Given the description of an element on the screen output the (x, y) to click on. 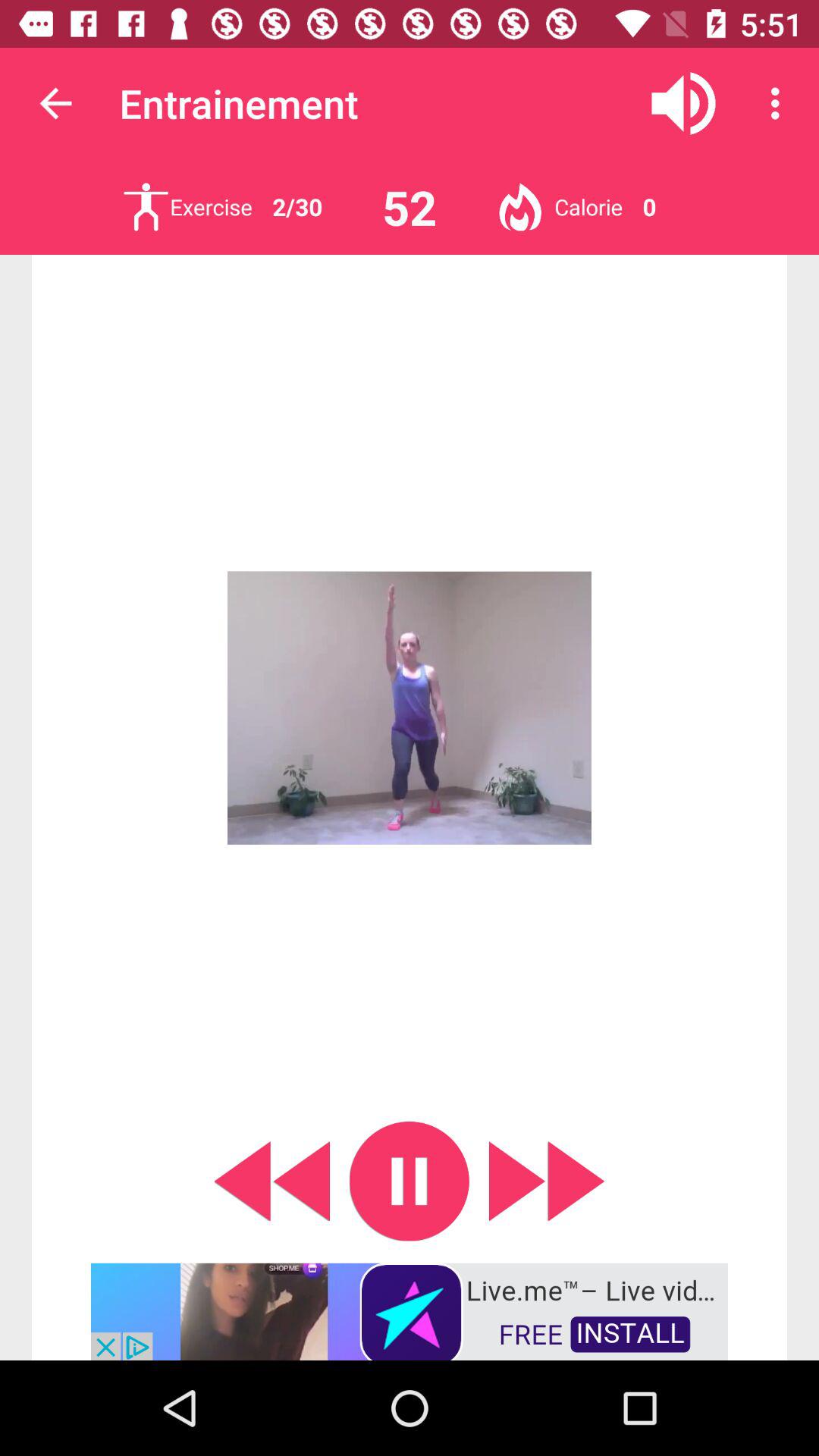
next exercise (146, 206)
